Given the description of an element on the screen output the (x, y) to click on. 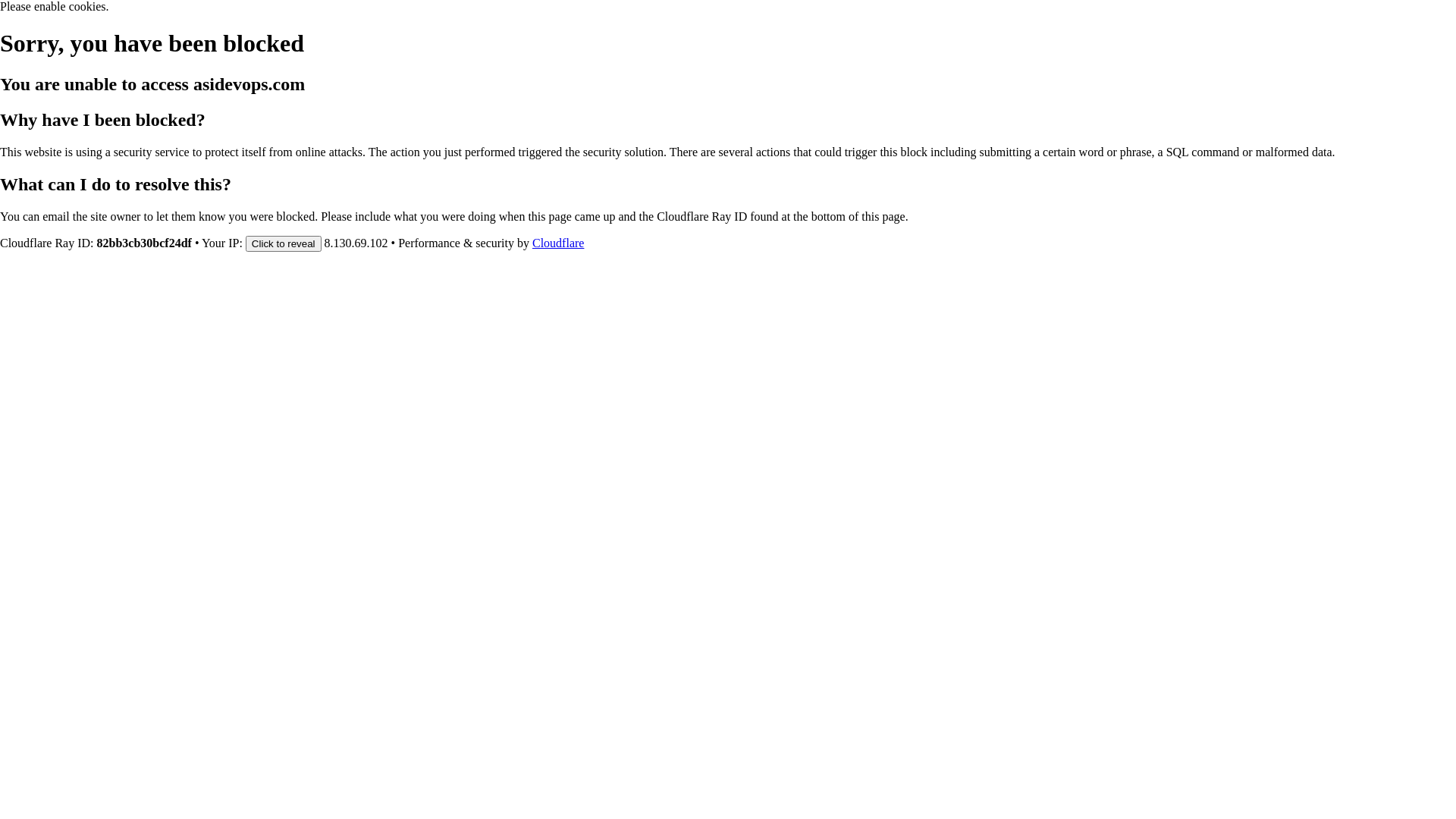
Cloudflare Element type: text (557, 242)
Click to reveal Element type: text (283, 243)
